Given the description of an element on the screen output the (x, y) to click on. 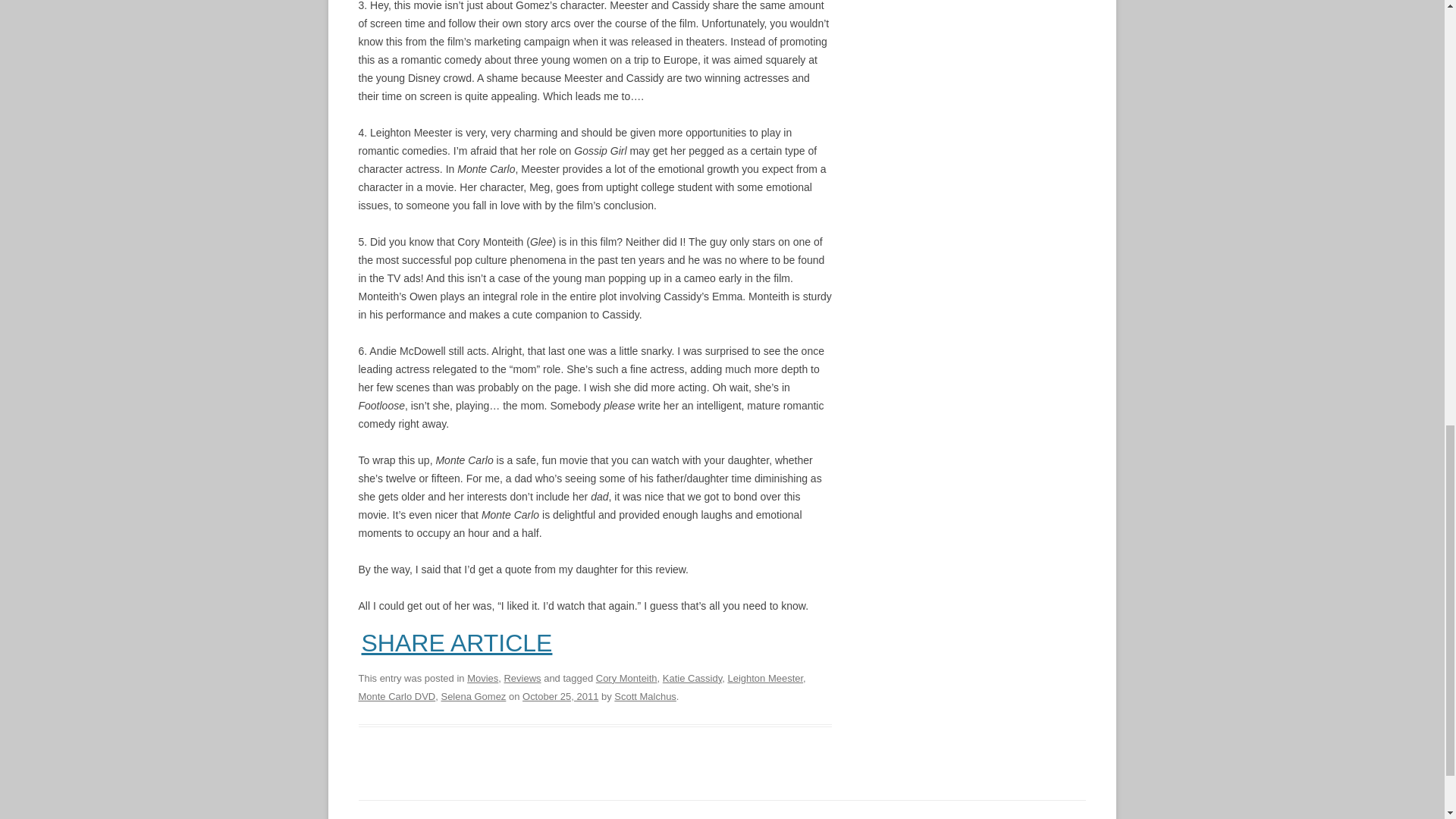
Leighton Meester (764, 677)
Reviews (521, 677)
Movies (482, 677)
Scott Malchus (645, 696)
1:35 am (560, 696)
View all posts by Scott Malchus (645, 696)
Selena Gomez (473, 696)
Cory Monteith (626, 677)
Katie Cassidy (692, 677)
Monte Carlo DVD (396, 696)
